Given the description of an element on the screen output the (x, y) to click on. 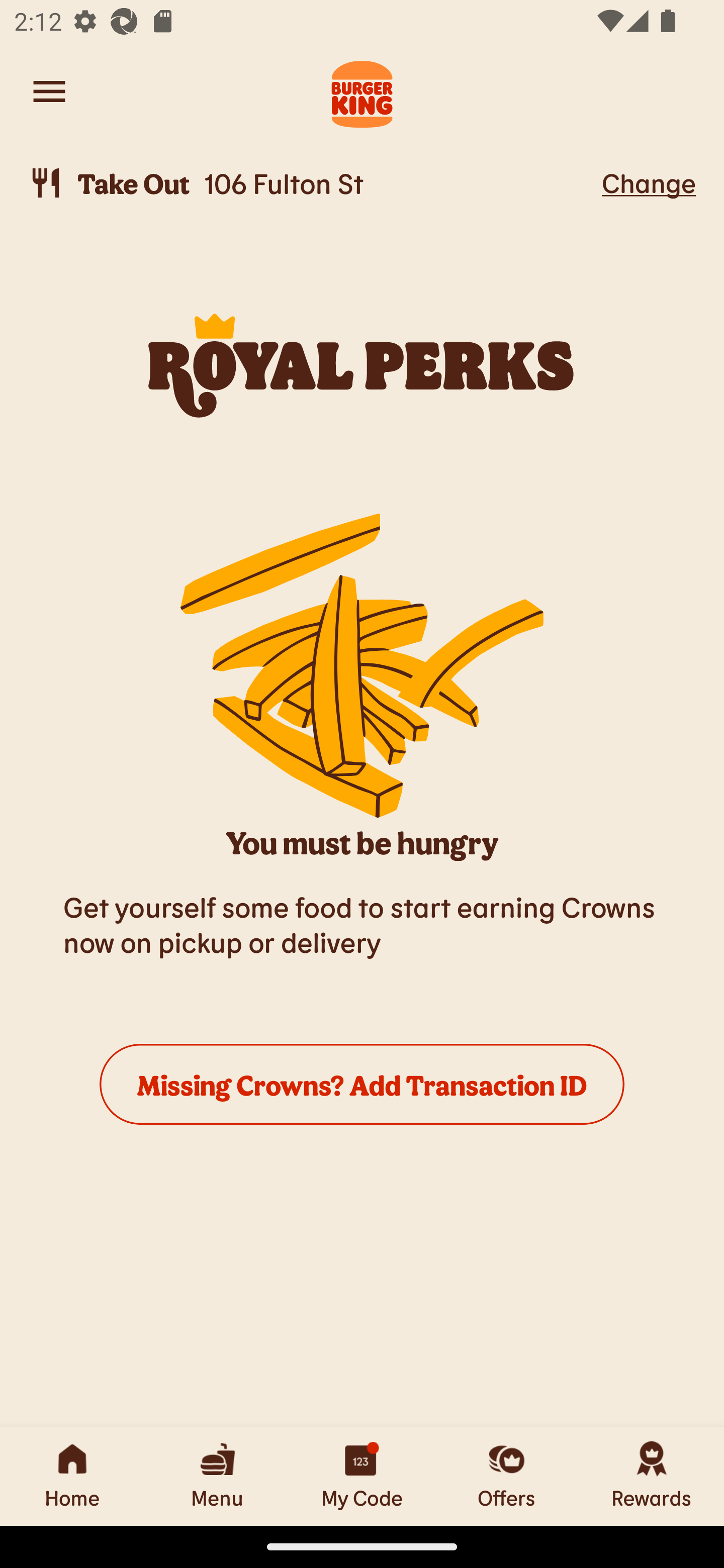
Burger King Logo. Navigate to Home (362, 91)
Navigate to account menu  (49, 91)
Take Out, 106 Fulton St  Take Out 106 Fulton St (311, 183)
Change (648, 182)
Missing Crowns? Add Transaction ID (361, 1084)
Home (72, 1475)
Menu (216, 1475)
My Code (361, 1475)
Offers (506, 1475)
Rewards (651, 1475)
